Given the description of an element on the screen output the (x, y) to click on. 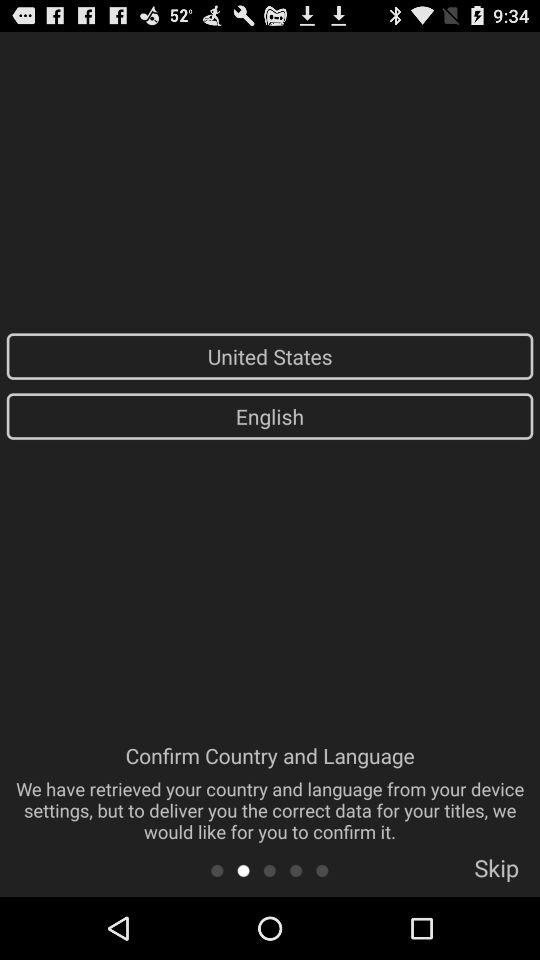
go to third page (269, 870)
